Given the description of an element on the screen output the (x, y) to click on. 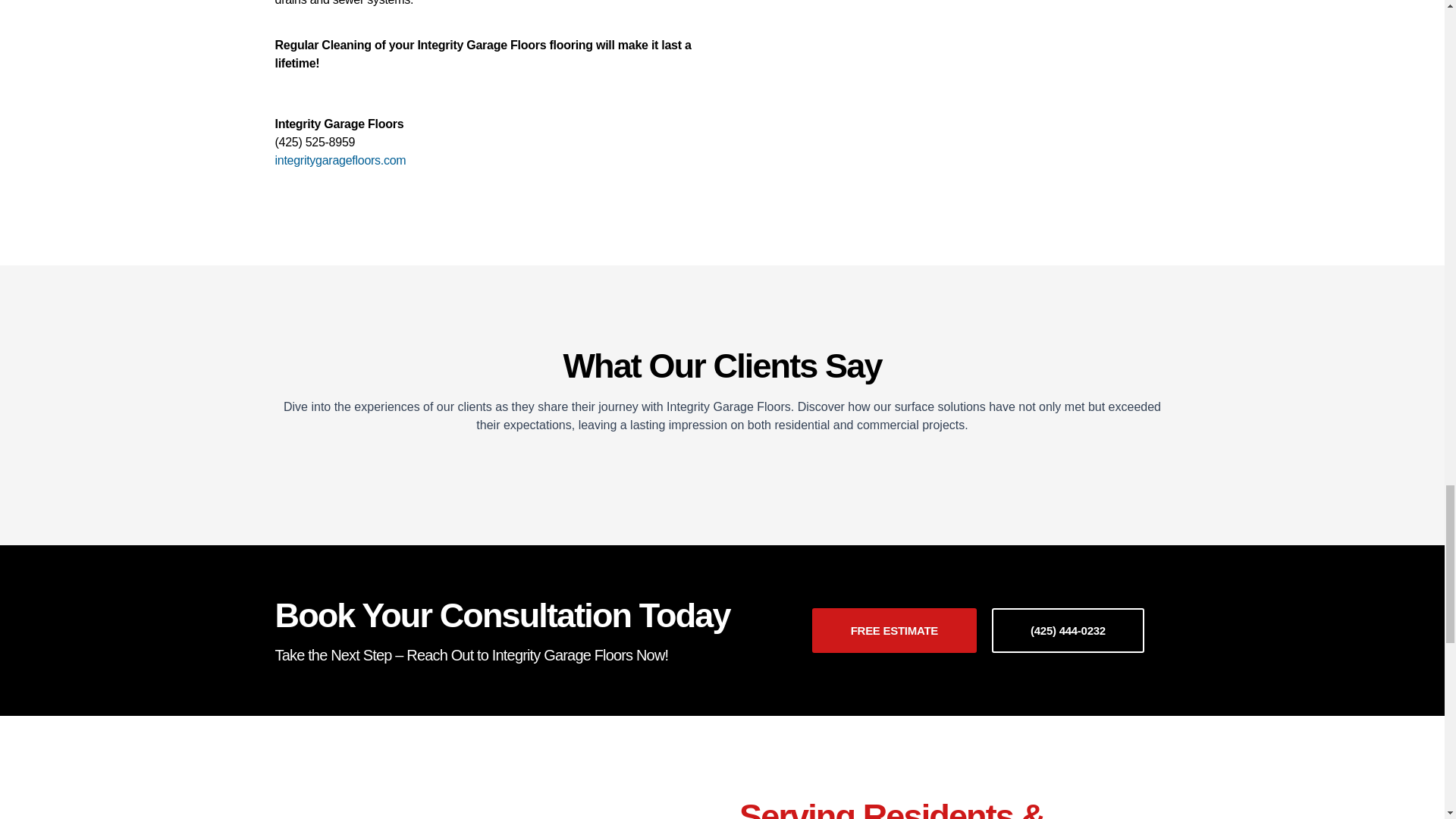
integritygaragefloors.com (340, 160)
FREE ESTIMATE (894, 630)
